Given the description of an element on the screen output the (x, y) to click on. 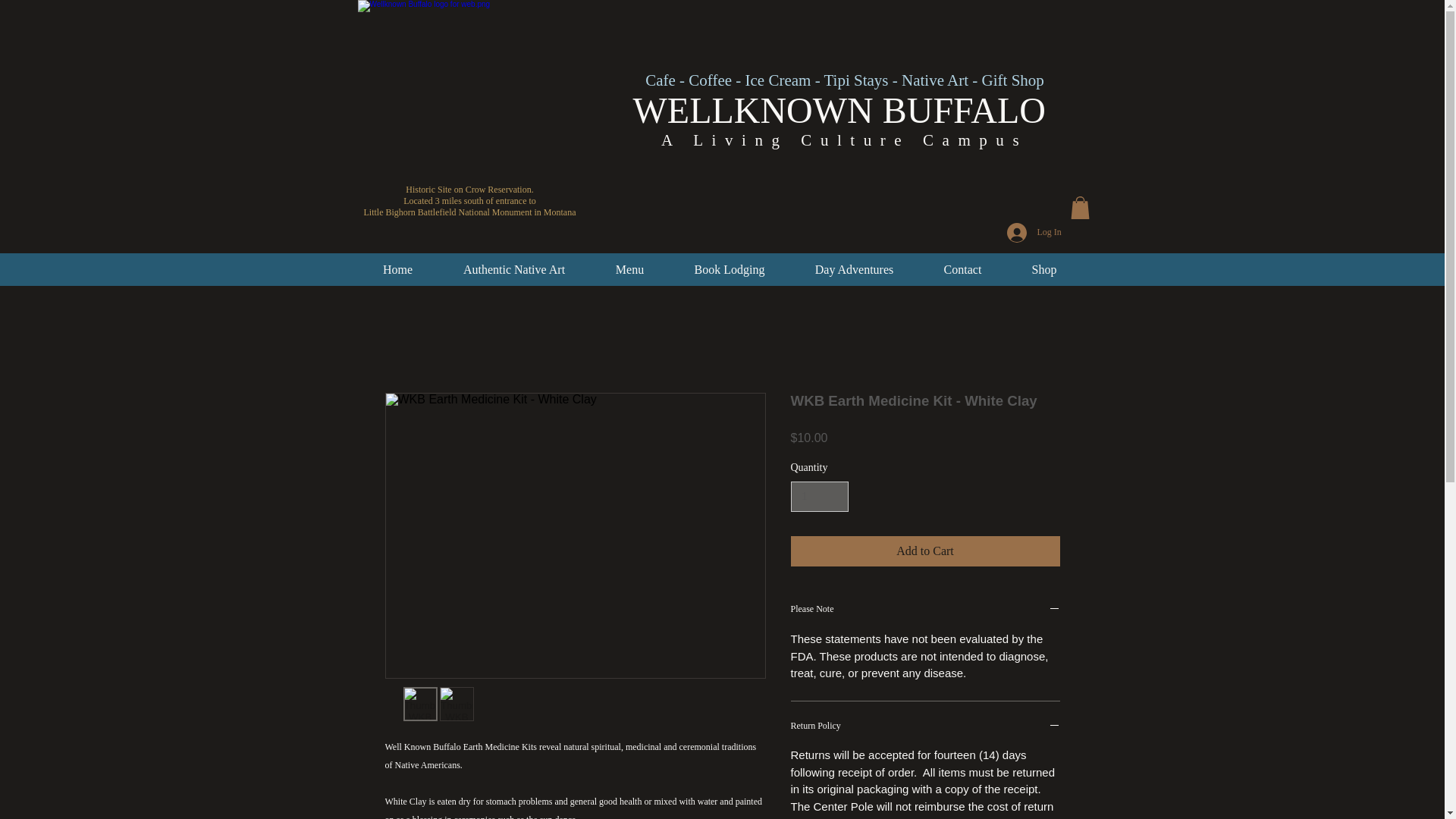
Book Lodging (728, 269)
Please Note (924, 610)
Add to Cart (924, 551)
Historic Site on Crow Reservation. (469, 189)
Little Bighorn Battlefield National Monument (448, 212)
Return Policy (924, 726)
A Living Culture Campus (844, 140)
Contact (962, 269)
1 (818, 496)
Day Adventures (854, 269)
Located 3 miles south of entrance to (469, 200)
Home (398, 269)
WELLKNOWN BUFFALO (838, 110)
Menu (628, 269)
